Given the description of an element on the screen output the (x, y) to click on. 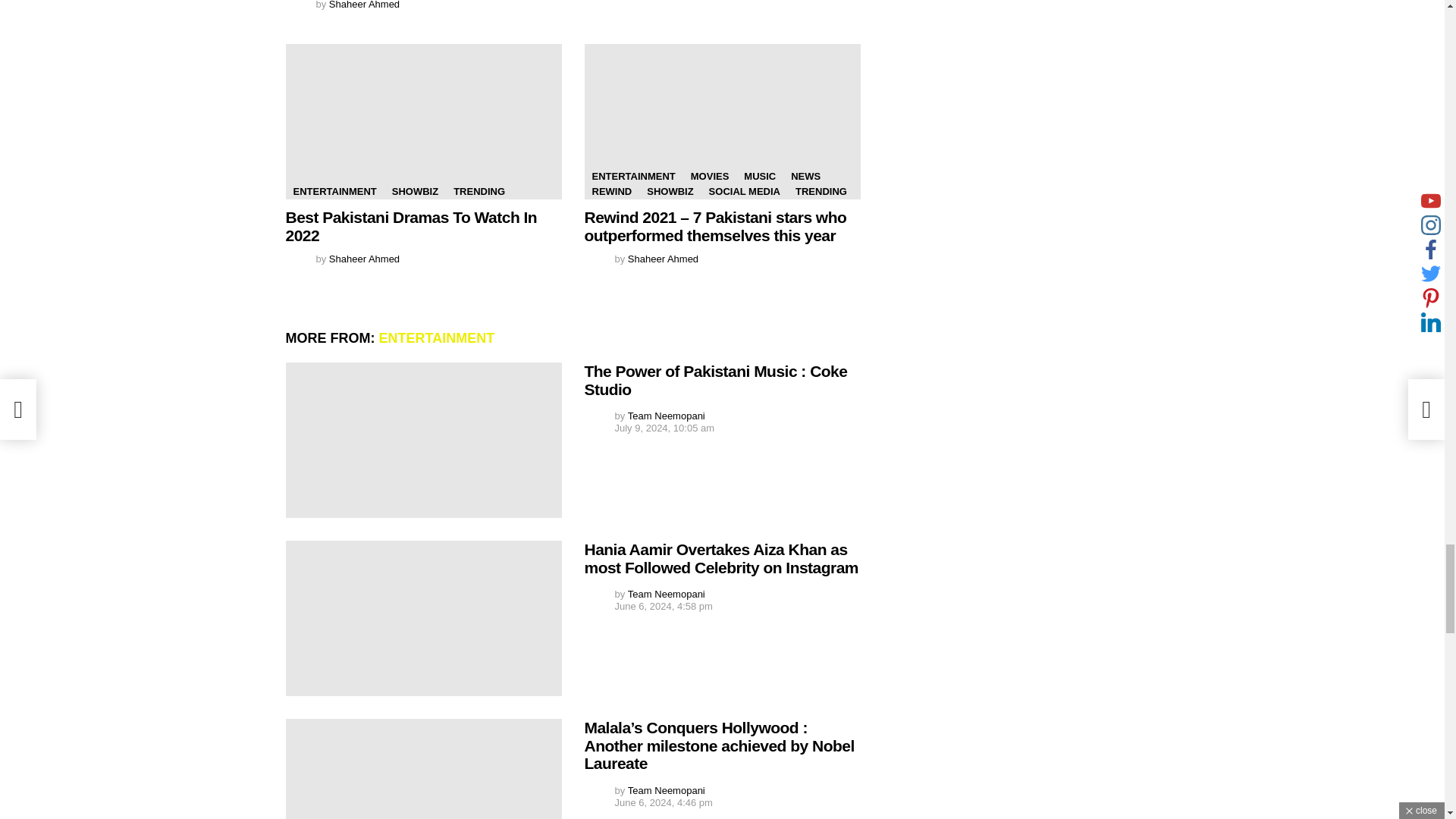
Best Pakistani Dramas To Watch In 2022 (422, 121)
Posts by Shaheer Ahmed (363, 258)
Posts by Shaheer Ahmed (363, 4)
Posts by Shaheer Ahmed (662, 258)
